Given the description of an element on the screen output the (x, y) to click on. 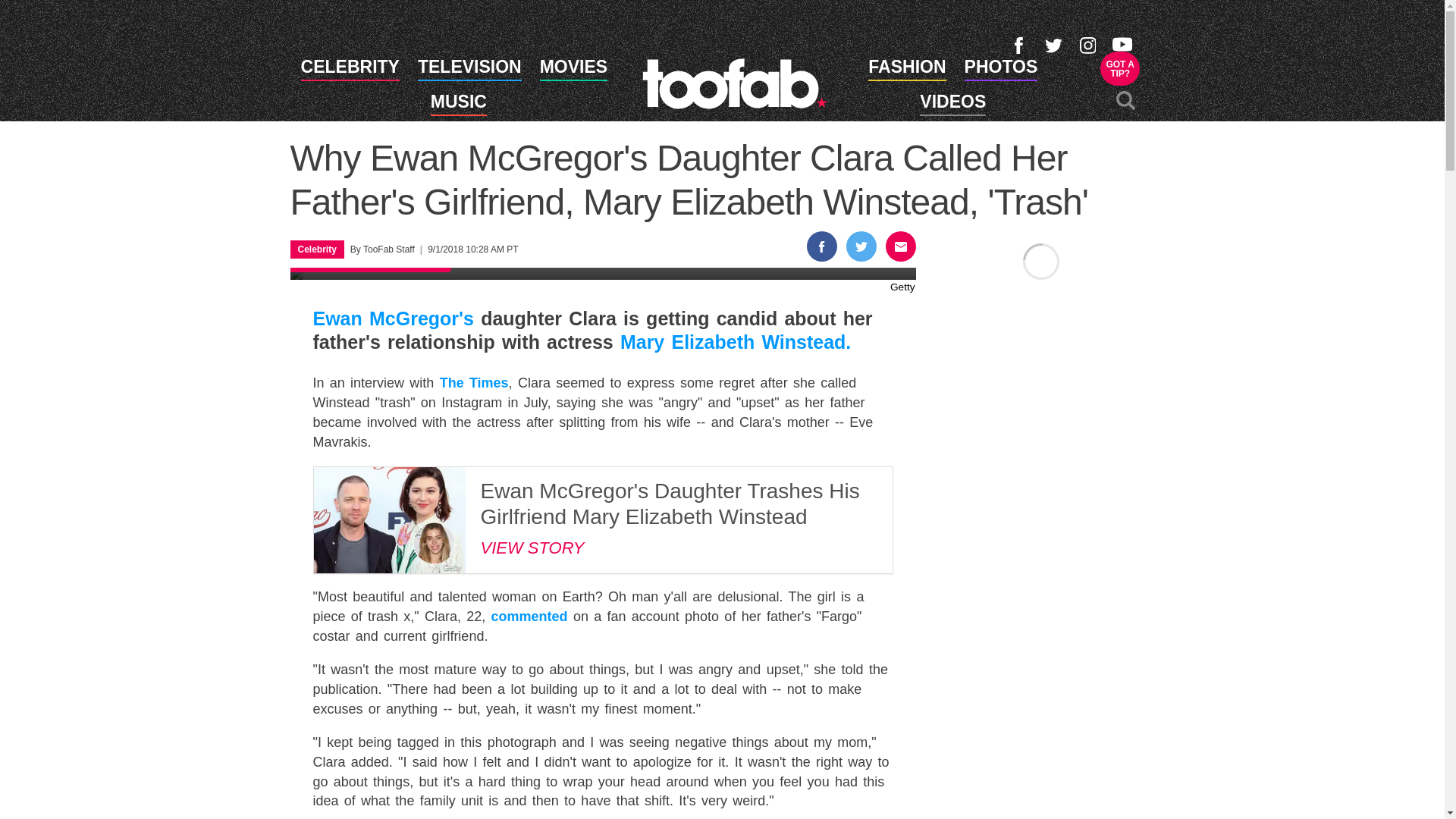
TELEVISION (469, 69)
MUSIC (458, 104)
Mary Elizabeth Winstead. (735, 341)
The Times (473, 382)
Ewan McGregor's (393, 318)
PHOTOS (1000, 69)
toofab (734, 82)
VIDEOS (952, 104)
CELEBRITY (349, 69)
FASHION (905, 69)
MOVIES (573, 69)
VIEW PHOTOS (1120, 68)
Celebrity (602, 273)
